Given the description of an element on the screen output the (x, y) to click on. 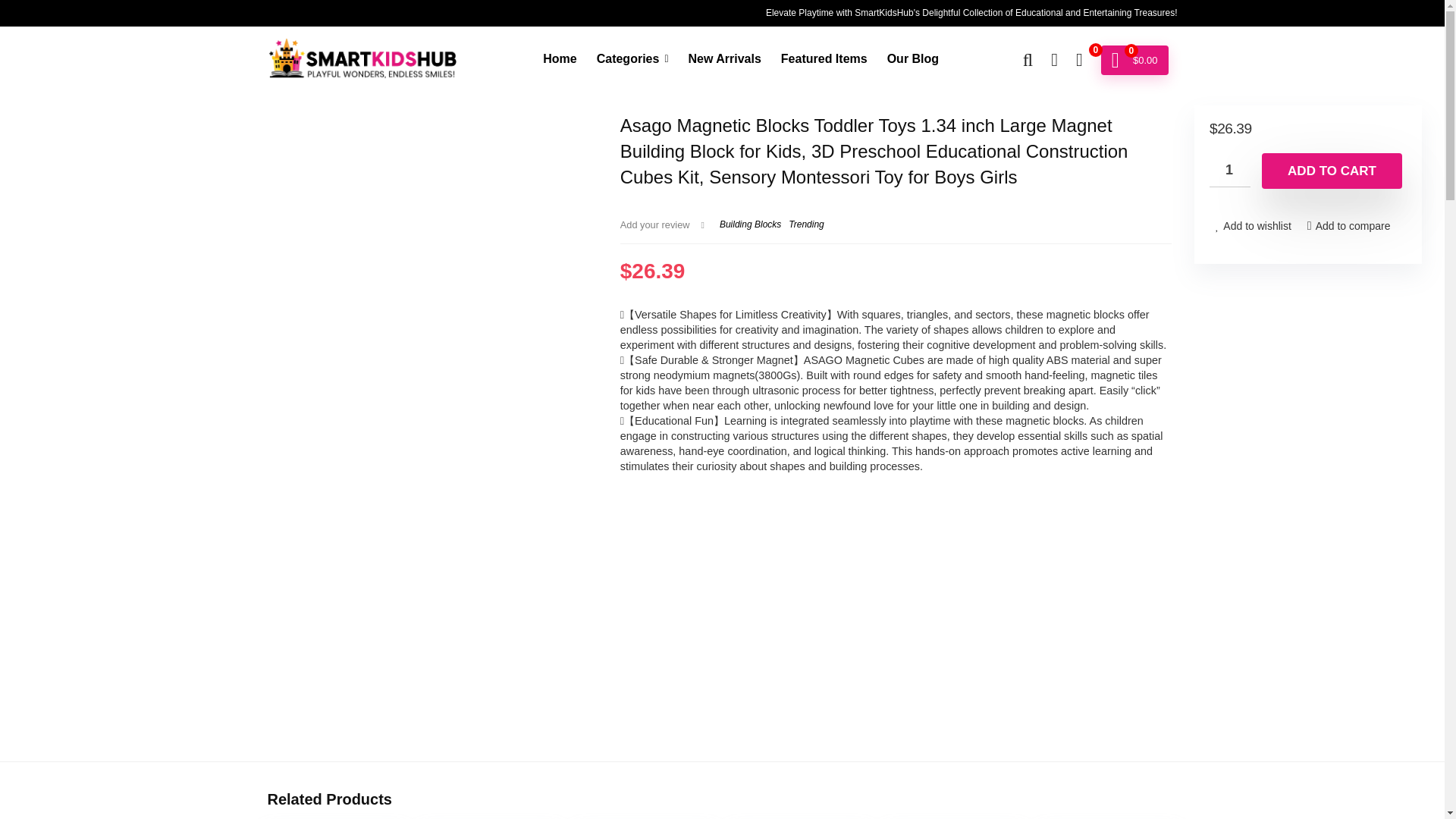
Add your review (655, 224)
Categories (632, 59)
1 (1229, 170)
Our Blog (913, 59)
Home (559, 59)
Building Blocks (749, 224)
Featured Items (824, 59)
ADD TO CART (1332, 171)
View all posts in Trending (806, 224)
View all posts in Building Blocks (749, 224)
